Given the description of an element on the screen output the (x, y) to click on. 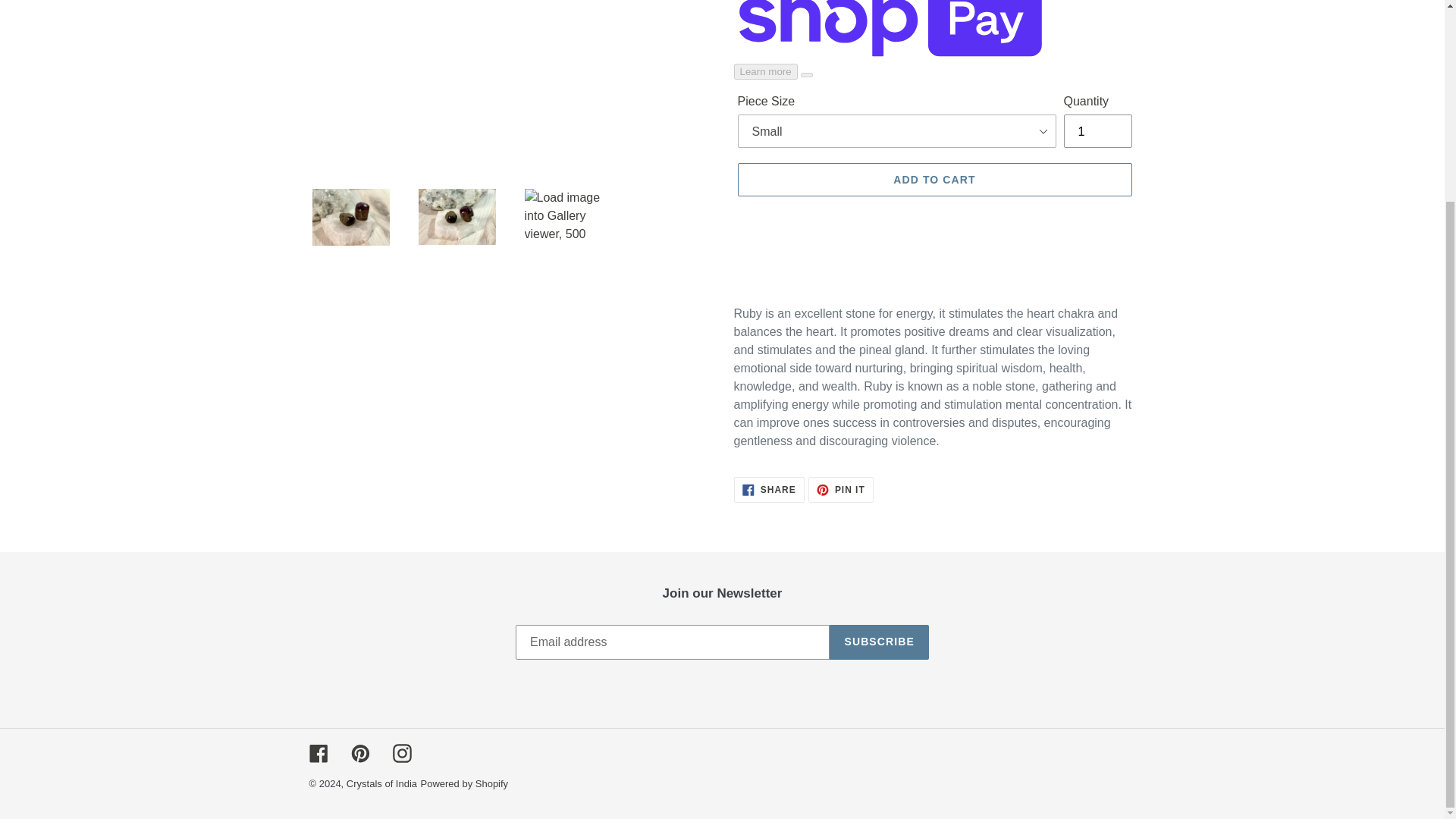
1 (1096, 131)
